Given the description of an element on the screen output the (x, y) to click on. 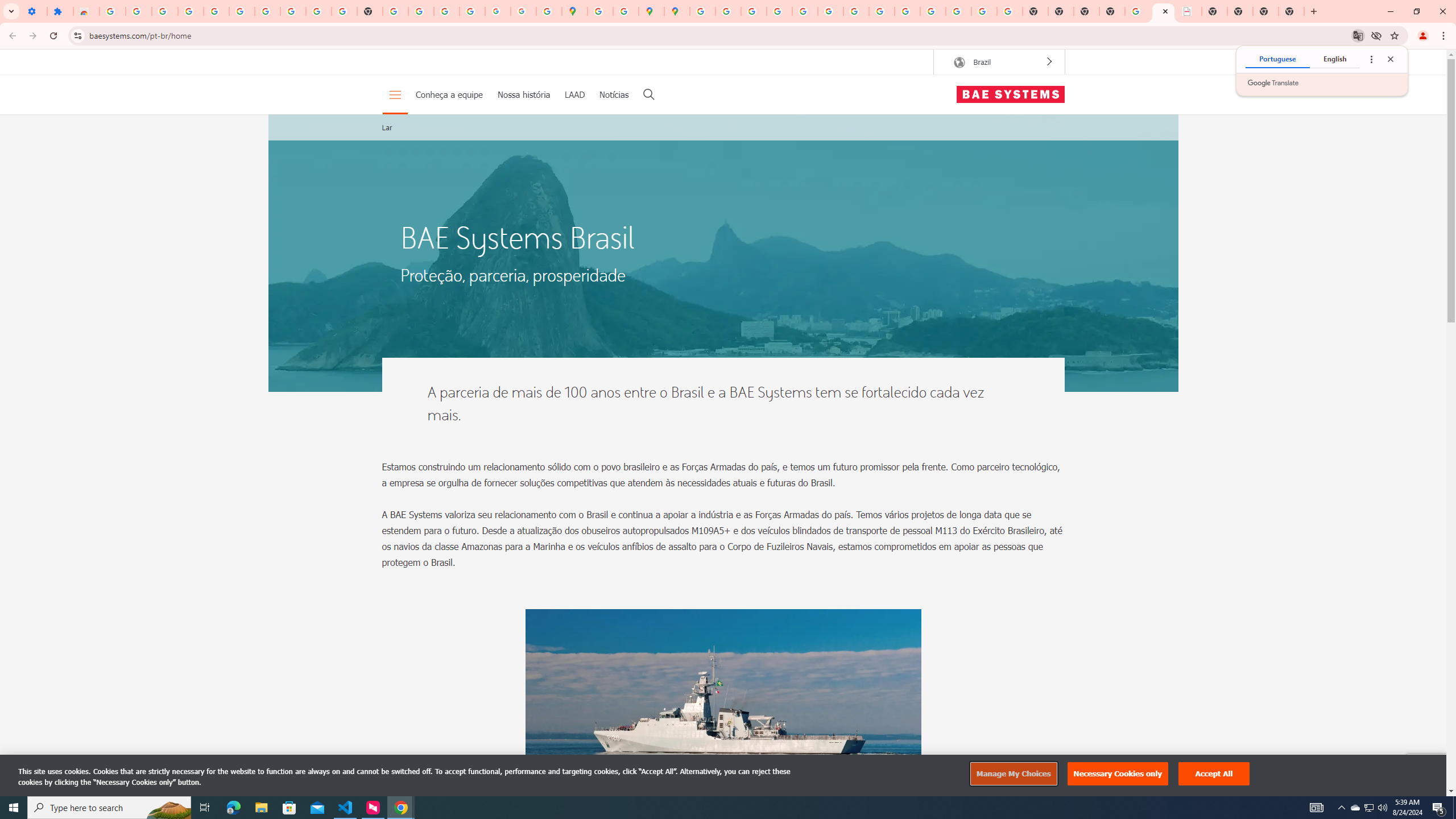
BAE Systems Brasil | BAE Systems (1162, 11)
BAE Systems (1010, 94)
Settings - On startup (34, 11)
 International Region Icon (959, 62)
A view over Rio de Janeiro (722, 252)
